Given the description of an element on the screen output the (x, y) to click on. 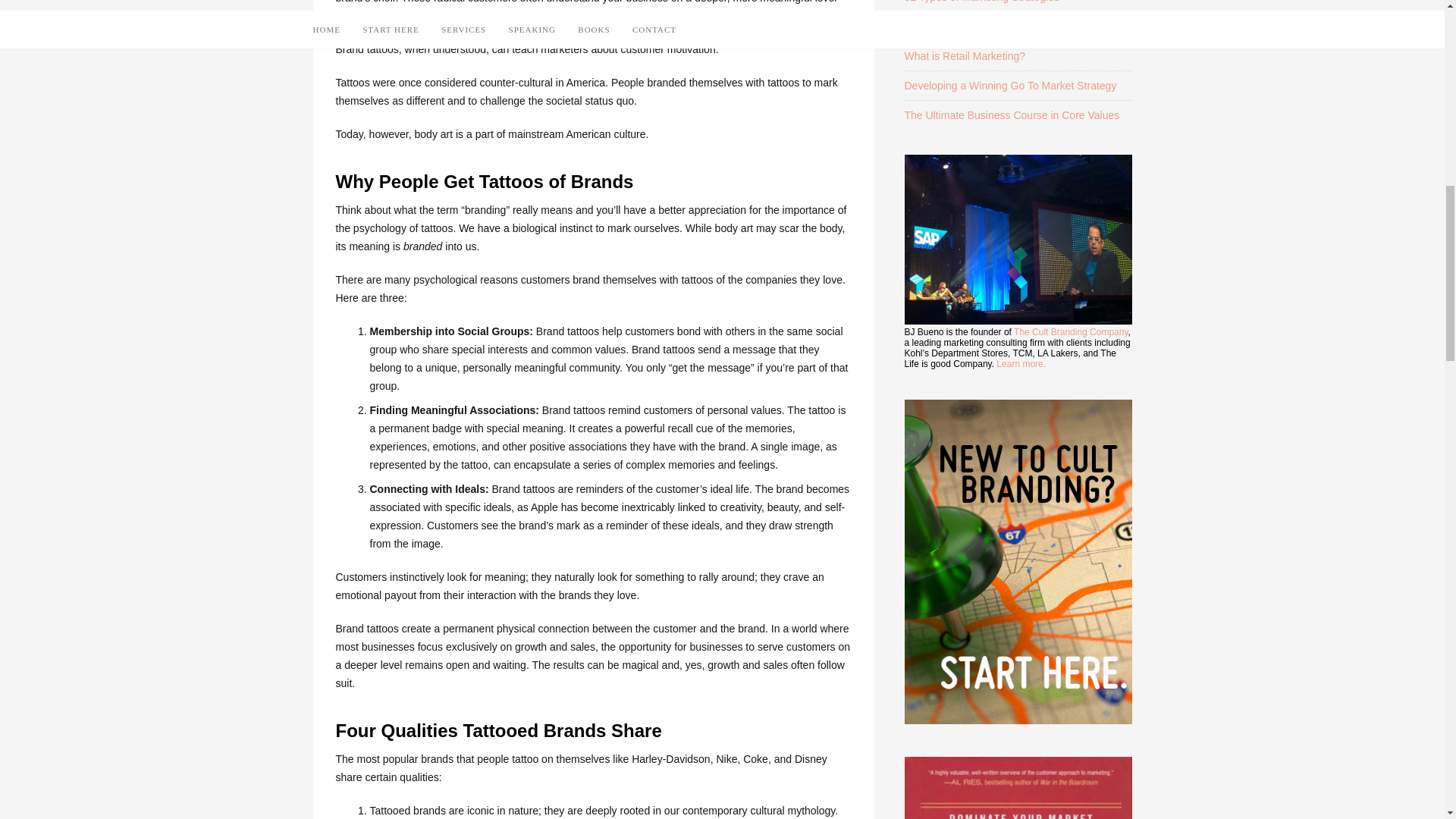
The Cult Branding Company (1070, 331)
What is Retail Marketing? (964, 55)
Developing a Winning Go To Market Strategy (1010, 85)
The Ultimate Business Course in Core Values (1011, 114)
Learn more. (1020, 363)
Create Strong Brand Positioning in Your Market (1015, 26)
What is Retail Marketing? (964, 55)
52 Types of Marketing Strategies (981, 1)
The Ultimate Business Course in Core Values (1011, 114)
Developing a Winning Go To Market Strategy (1010, 85)
52 Types of Marketing Strategies (981, 1)
Create Strong Brand Positioning in Your Market (1015, 26)
